Given the description of an element on the screen output the (x, y) to click on. 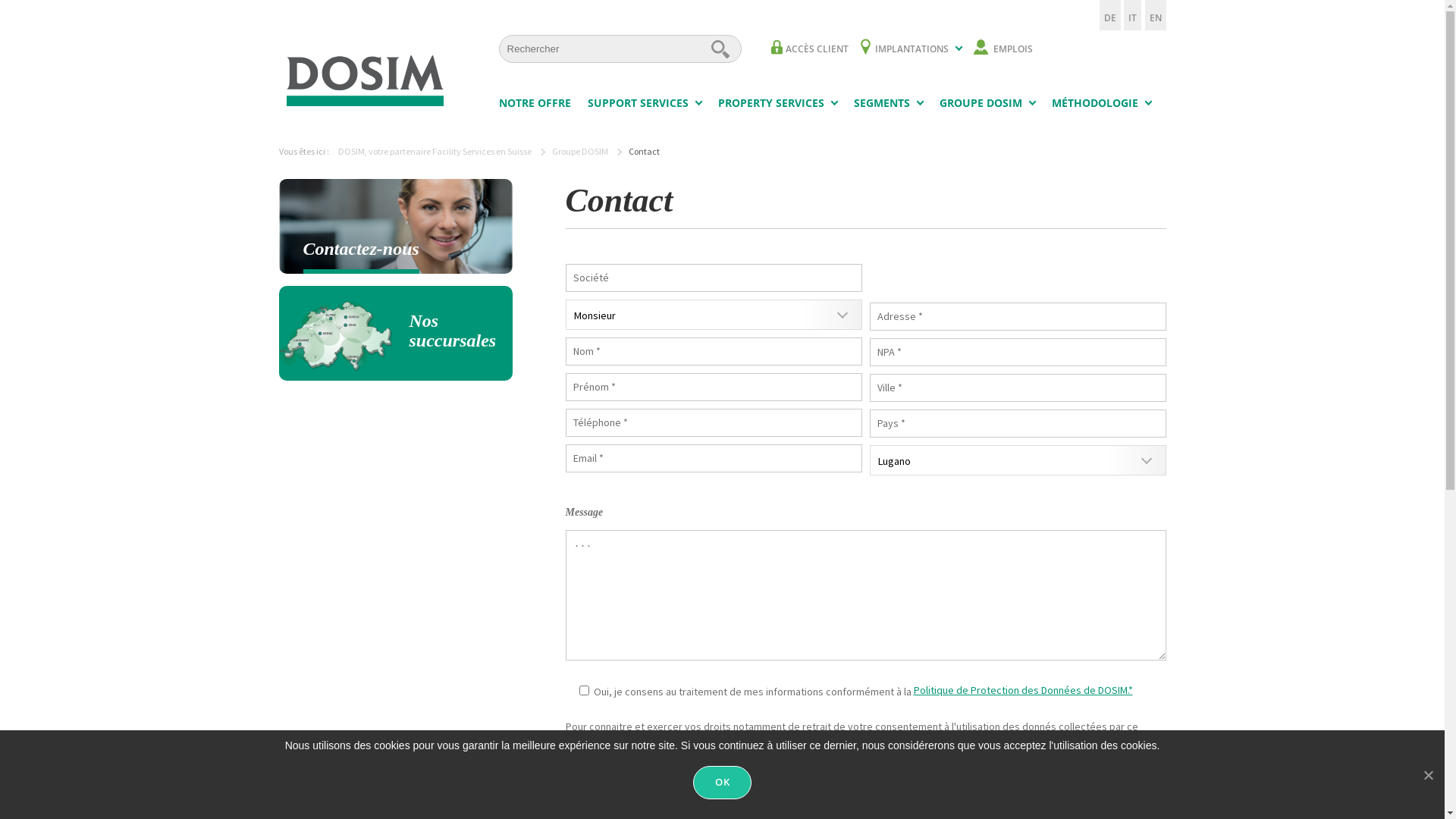
SEGMENTS Element type: text (887, 106)
IMPLANTATIONS Element type: text (909, 48)
IT Element type: text (1132, 15)
PROPERTY SERVICES Element type: text (776, 106)
Rechercher... Element type: text (720, 48)
DE Element type: text (1109, 15)
DOSIM, votre partenaire Facility Services en Suisse Element type: text (434, 150)
Nos succursales Element type: text (395, 332)
SUPPORT SERVICES Element type: text (643, 106)
GROUPE DOSIM Element type: text (986, 106)
EN Element type: text (1155, 15)
Contactez-nous Element type: text (395, 225)
EMPLOIS Element type: text (1002, 48)
OK Element type: text (722, 782)
Groupe DOSIM Element type: text (580, 150)
NOTRE OFFRE Element type: text (534, 106)
